Given the description of an element on the screen output the (x, y) to click on. 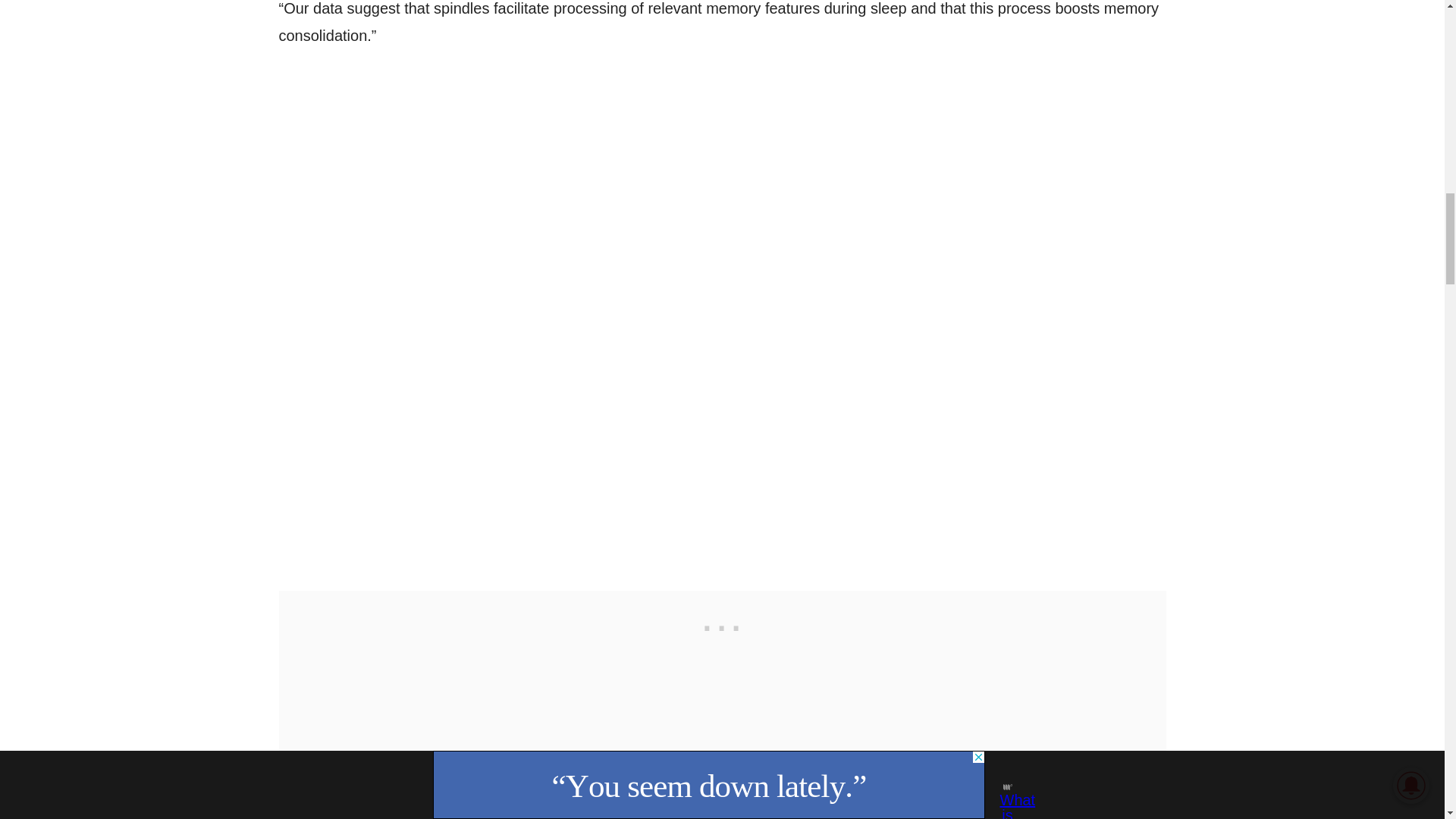
3rd party ad content (721, 624)
